Given the description of an element on the screen output the (x, y) to click on. 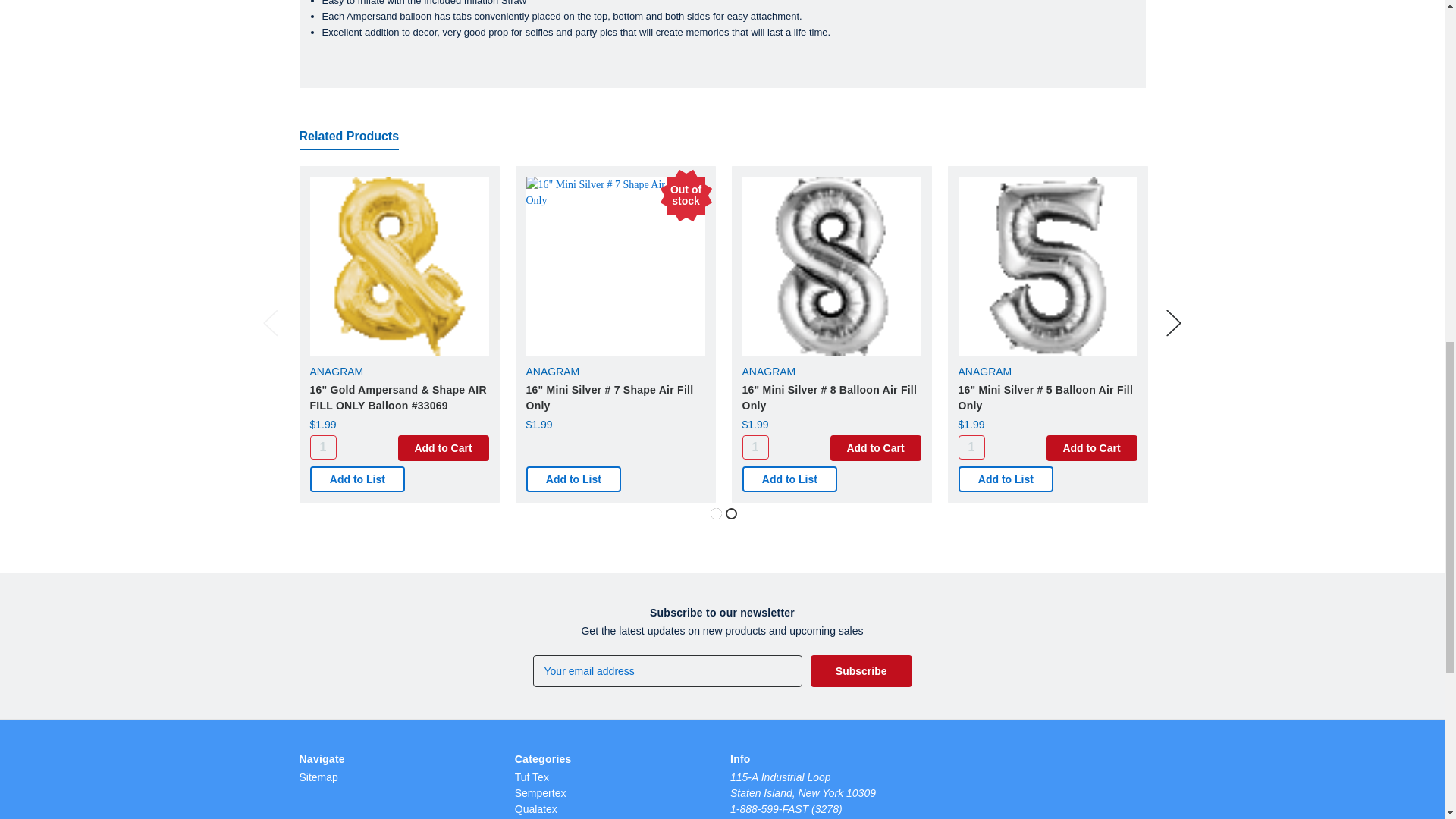
small gold ampersand balloon (397, 265)
1 (971, 446)
1 (322, 446)
Add to Cart (874, 447)
Subscribe (861, 671)
Add to Cart (1091, 447)
1 (754, 446)
Add to Cart (442, 447)
